Given the description of an element on the screen output the (x, y) to click on. 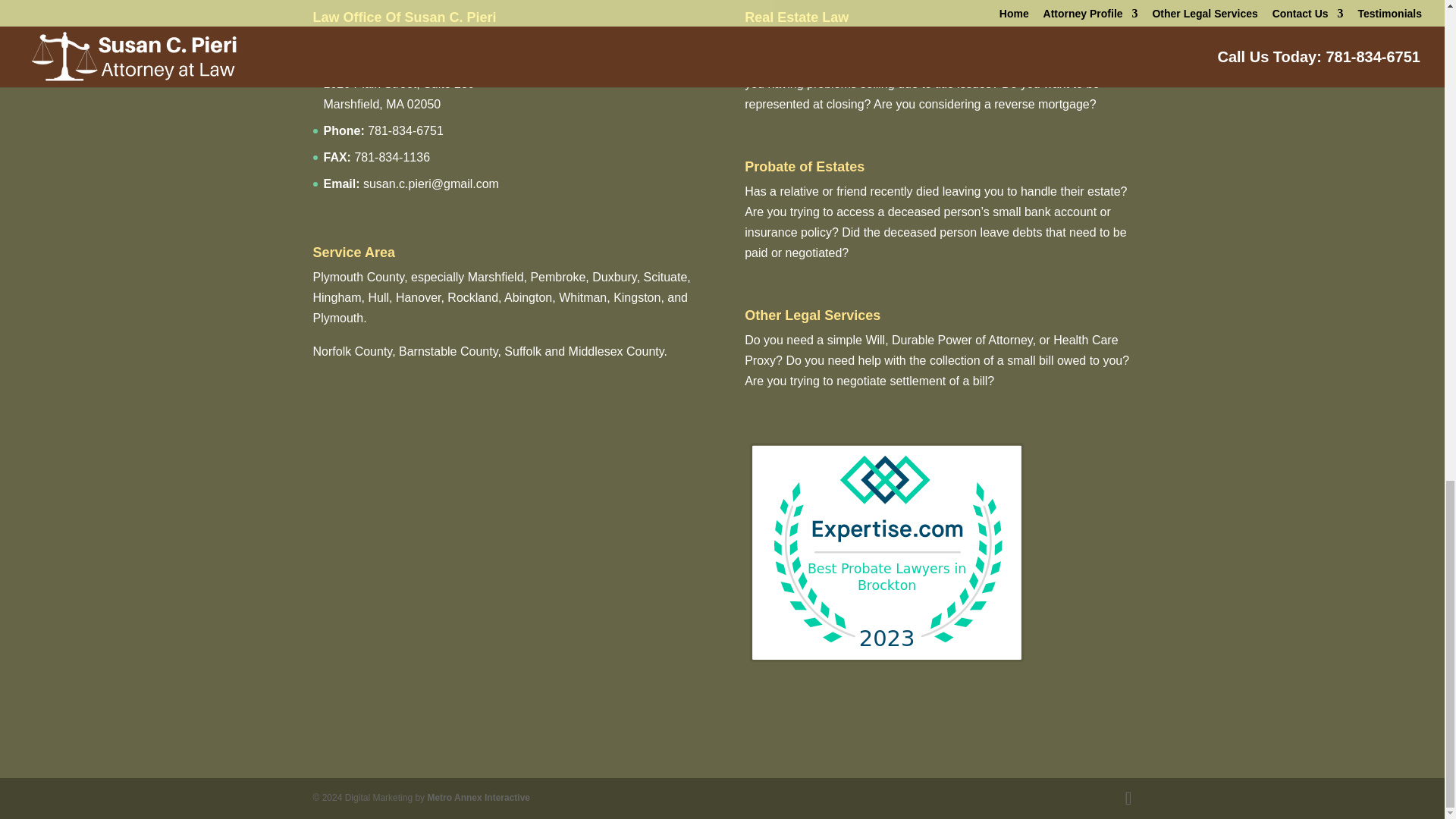
Digital Marketing Solutions For Your Business (477, 797)
Metro Annex Interactive (477, 797)
